Given the description of an element on the screen output the (x, y) to click on. 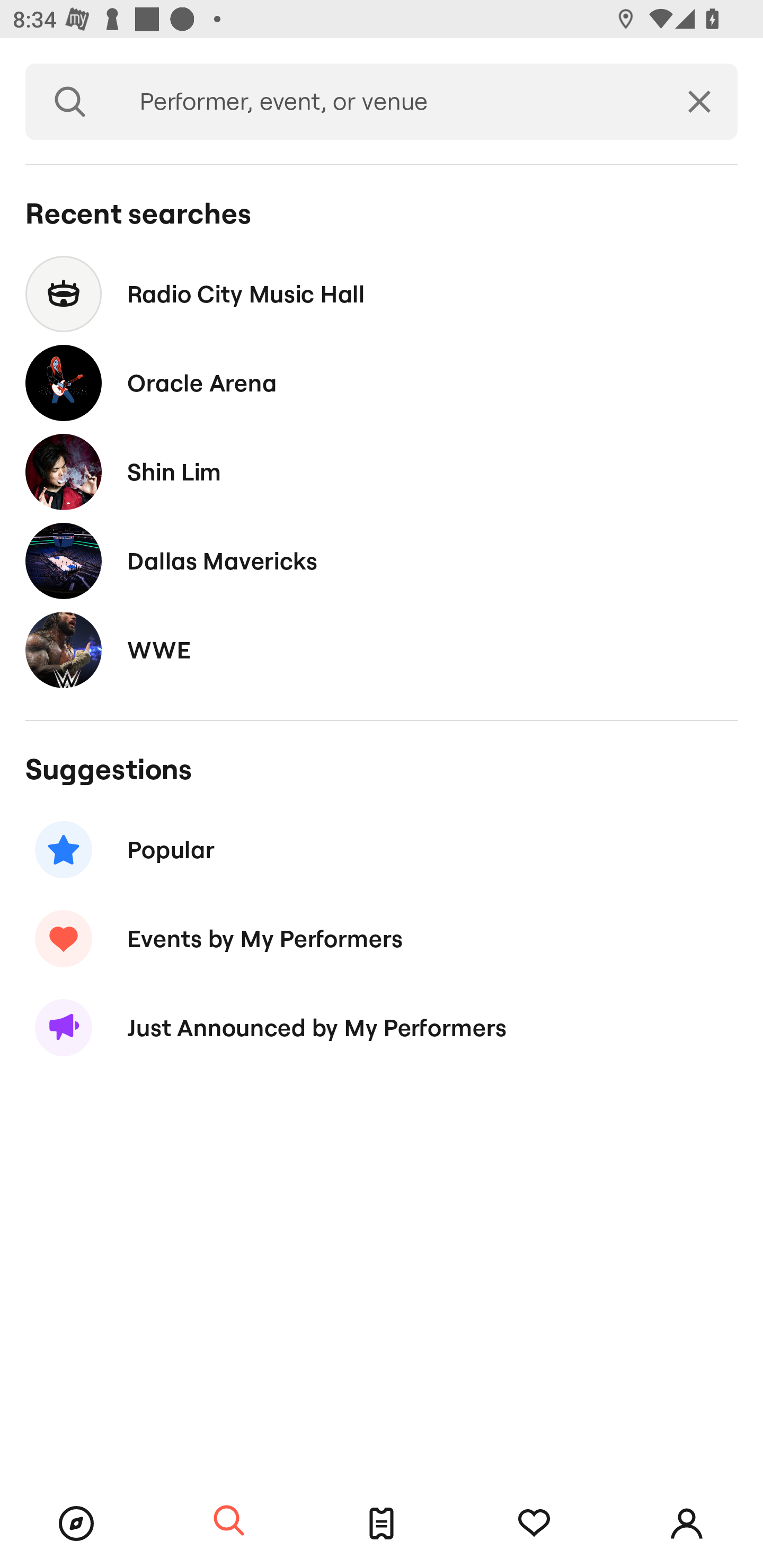
Search (69, 101)
Performer, event, or venue (387, 101)
Clear (699, 101)
Radio City Music Hall (381, 293)
Oracle Arena (381, 383)
Shin Lim (381, 471)
Dallas Mavericks (381, 560)
WWE (381, 649)
Popular (381, 849)
Events by My Performers (381, 938)
Just Announced by My Performers (381, 1027)
Browse (76, 1523)
Search (228, 1521)
Tickets (381, 1523)
Tracking (533, 1523)
Account (686, 1523)
